Given the description of an element on the screen output the (x, y) to click on. 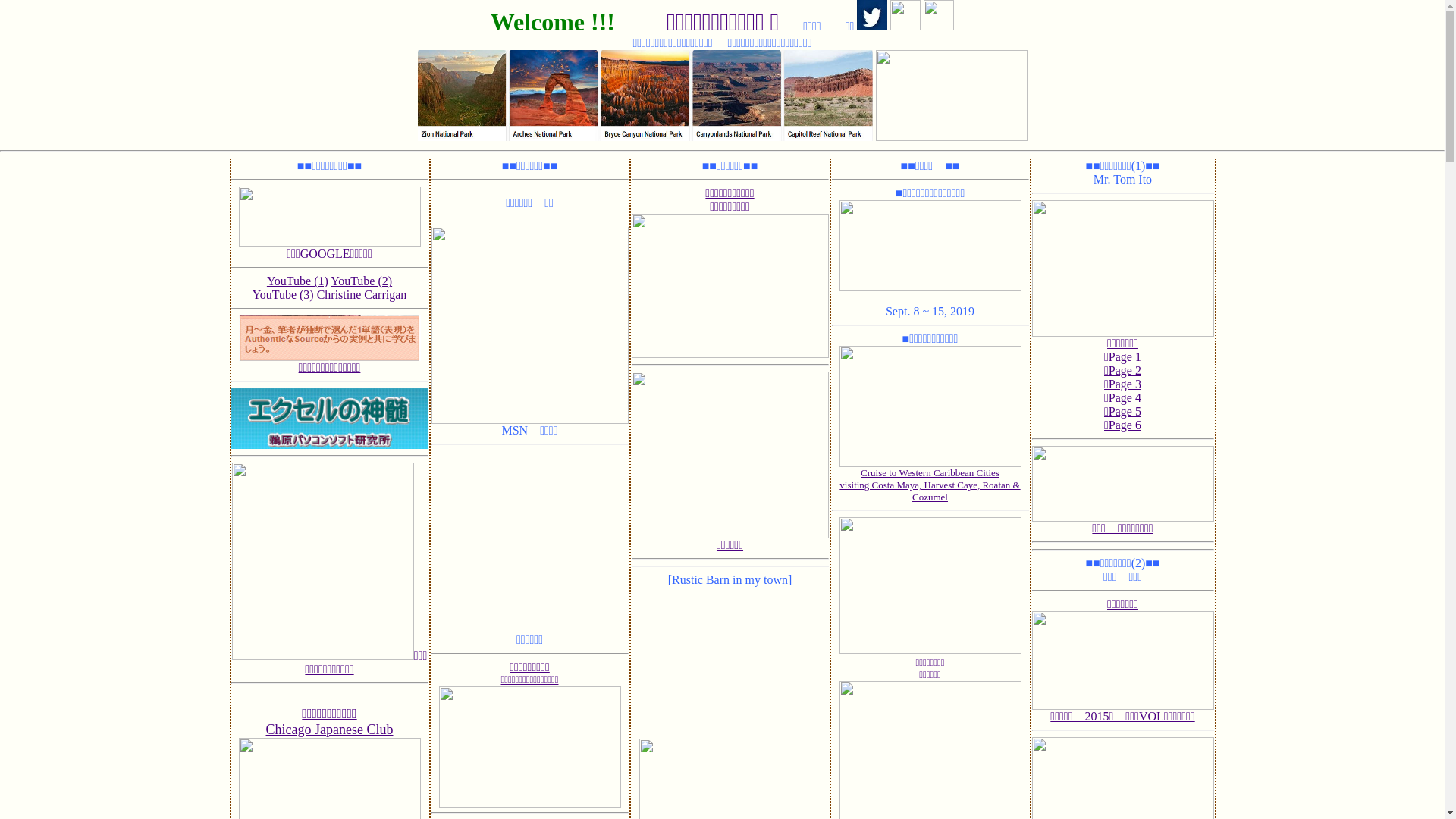
Christine Carrigan Element type: text (361, 294)
YouTube (1) Element type: text (297, 280)
YouTube (3) Element type: text (282, 294)
YouTube (2) Element type: text (361, 280)
YouTube video player Element type: hover (729, 662)
